Given the description of an element on the screen output the (x, y) to click on. 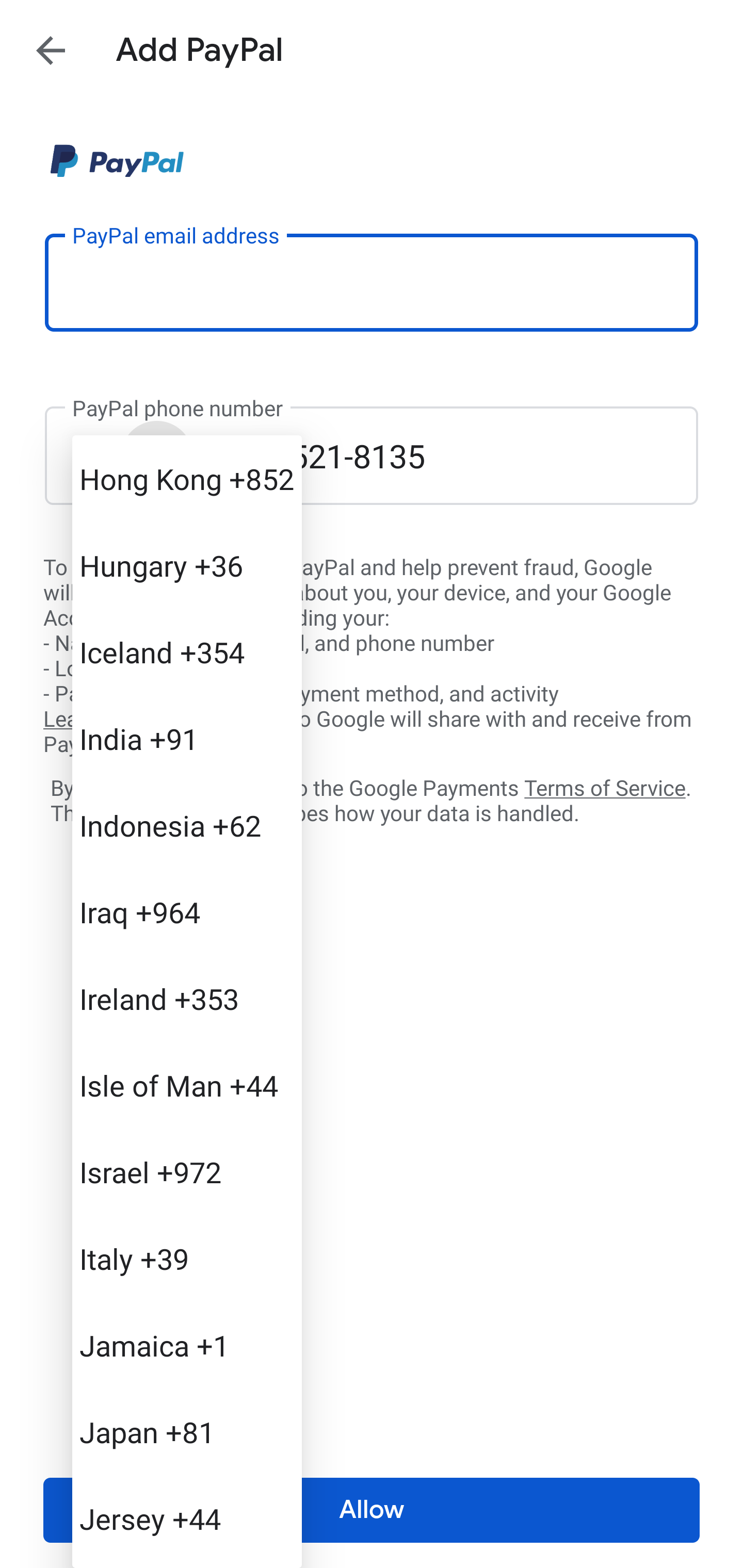
Hong Kong +852 (186, 478)
Hungary +36 (186, 565)
Iceland +354 (186, 651)
India +91 (186, 738)
Indonesia +62 (186, 825)
Iraq +964 (186, 911)
Ireland +353 (186, 997)
Isle of Man +44 (186, 1084)
Israel +972 (186, 1171)
Italy +39 (186, 1258)
Jamaica +1 (186, 1345)
Japan +81 (186, 1432)
Jersey +44 (186, 1518)
